Given the description of an element on the screen output the (x, y) to click on. 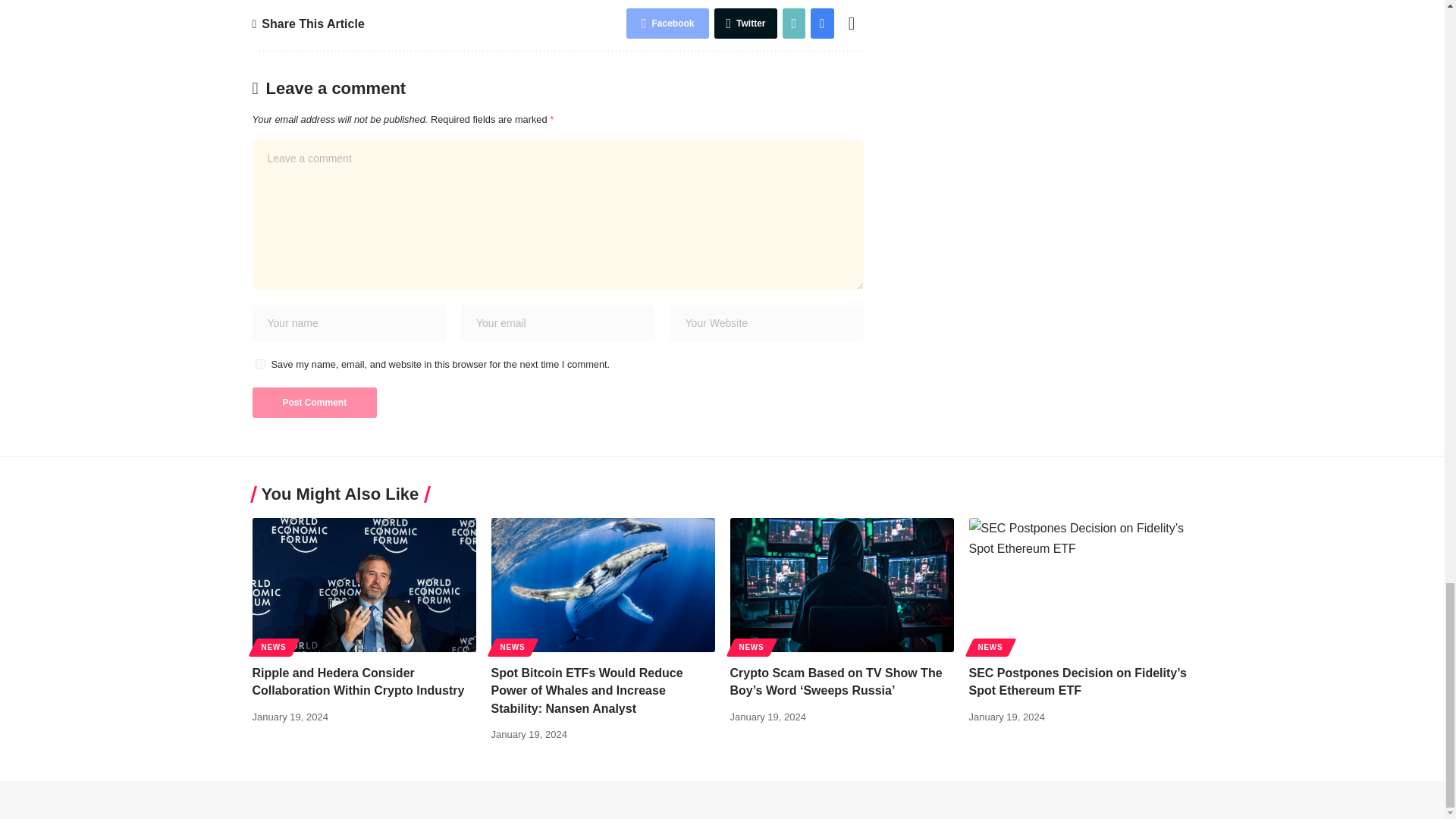
Post Comment (314, 402)
Facebook (668, 23)
Twitter (745, 23)
yes (259, 364)
